Given the description of an element on the screen output the (x, y) to click on. 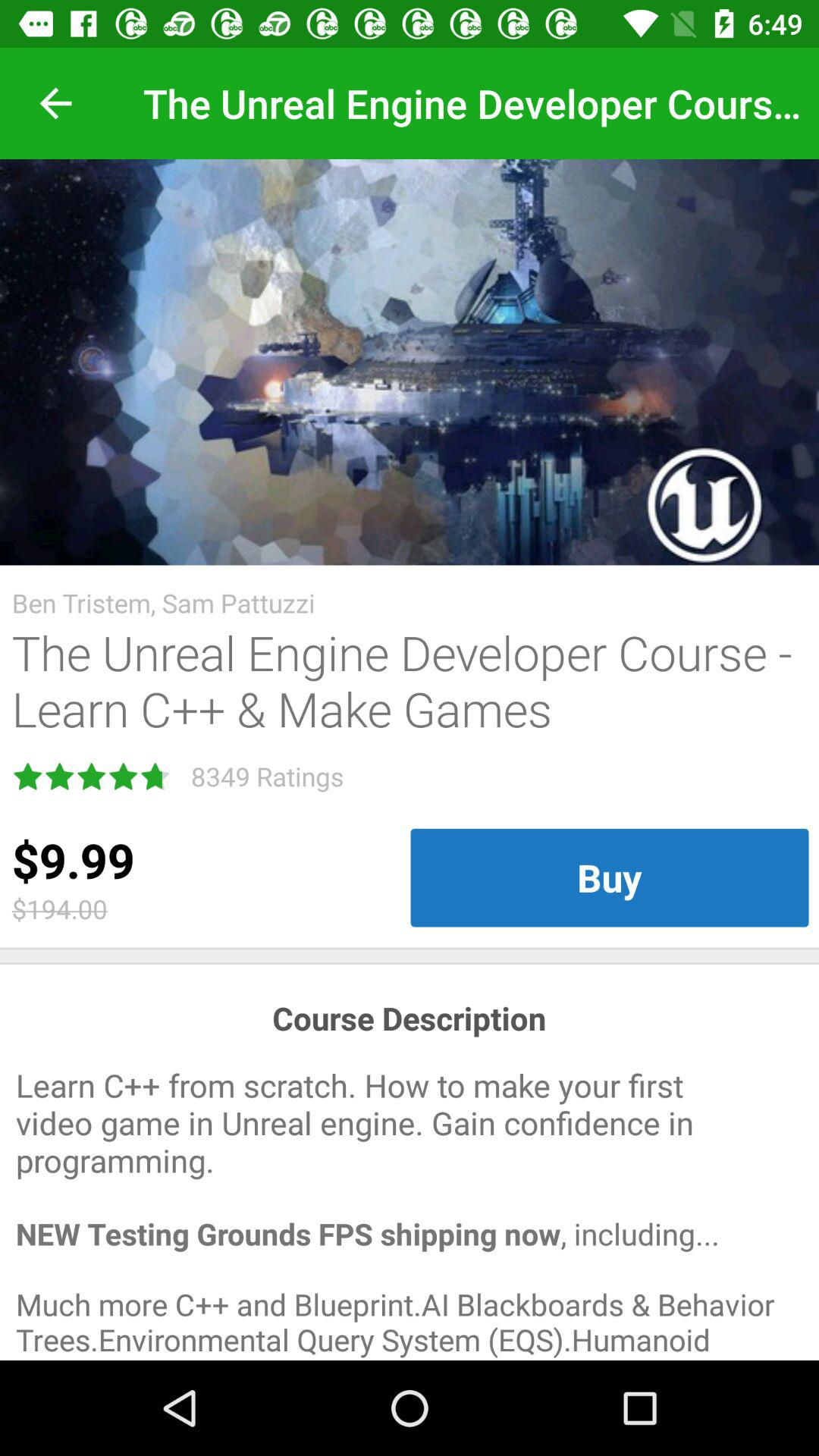
open the item to the right of the $9.99 (609, 877)
